Given the description of an element on the screen output the (x, y) to click on. 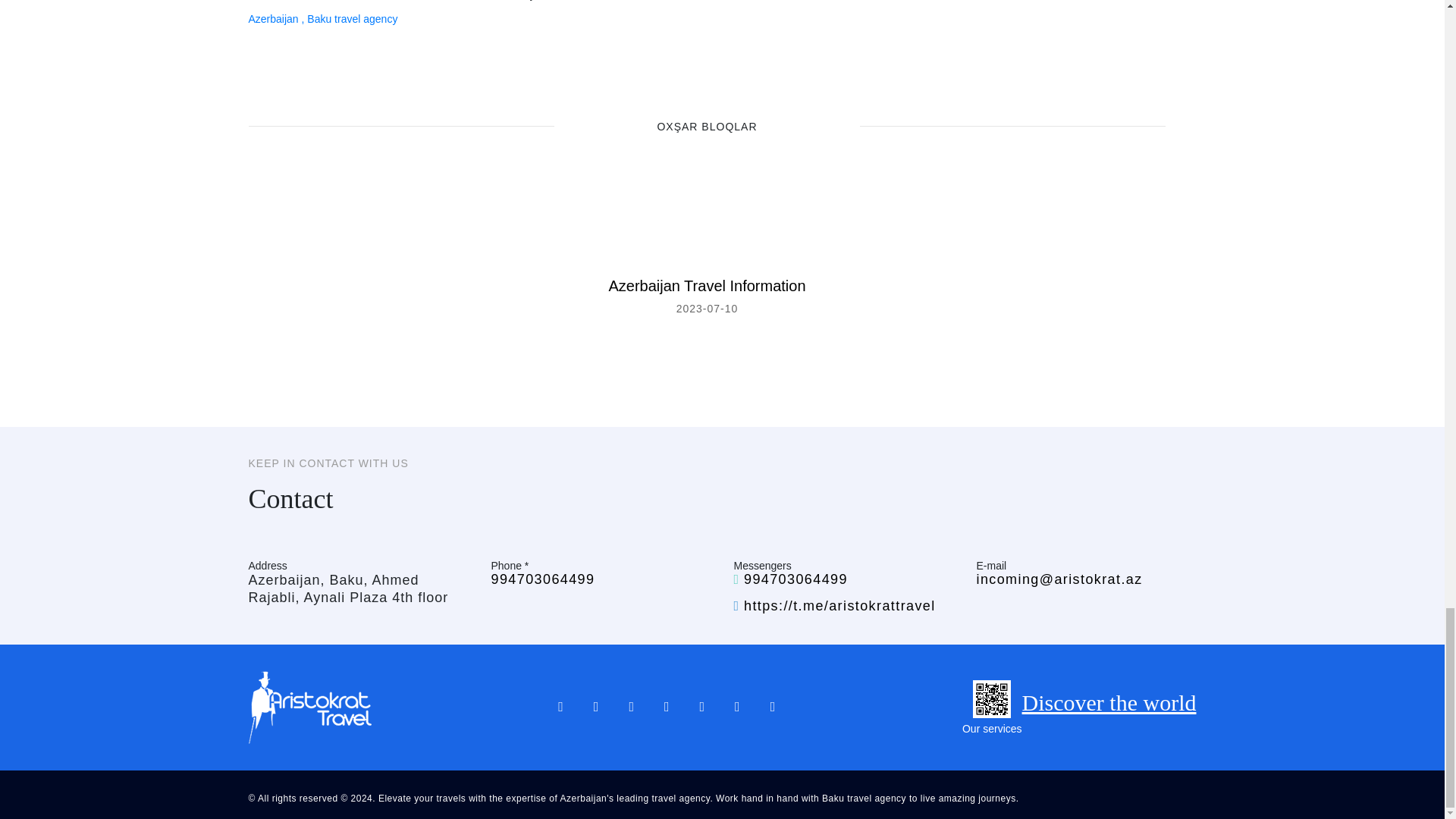
Azerbaijan , Baku travel agency (322, 19)
Azerbaijan Travel Information (706, 285)
